Given the description of an element on the screen output the (x, y) to click on. 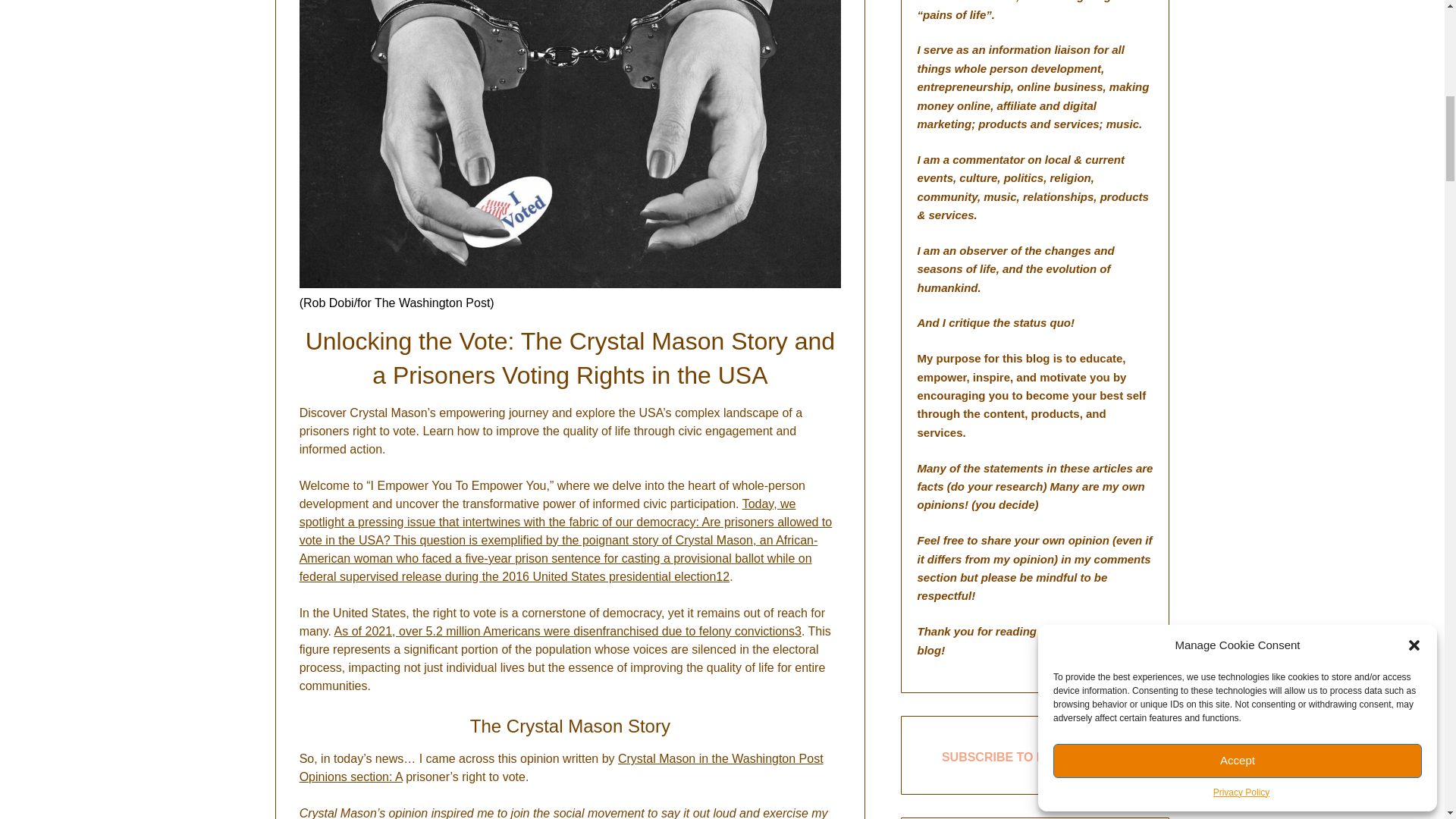
Crystal Mason in the Washington Post Opinions section: A (561, 767)
2 (725, 576)
